Given the description of an element on the screen output the (x, y) to click on. 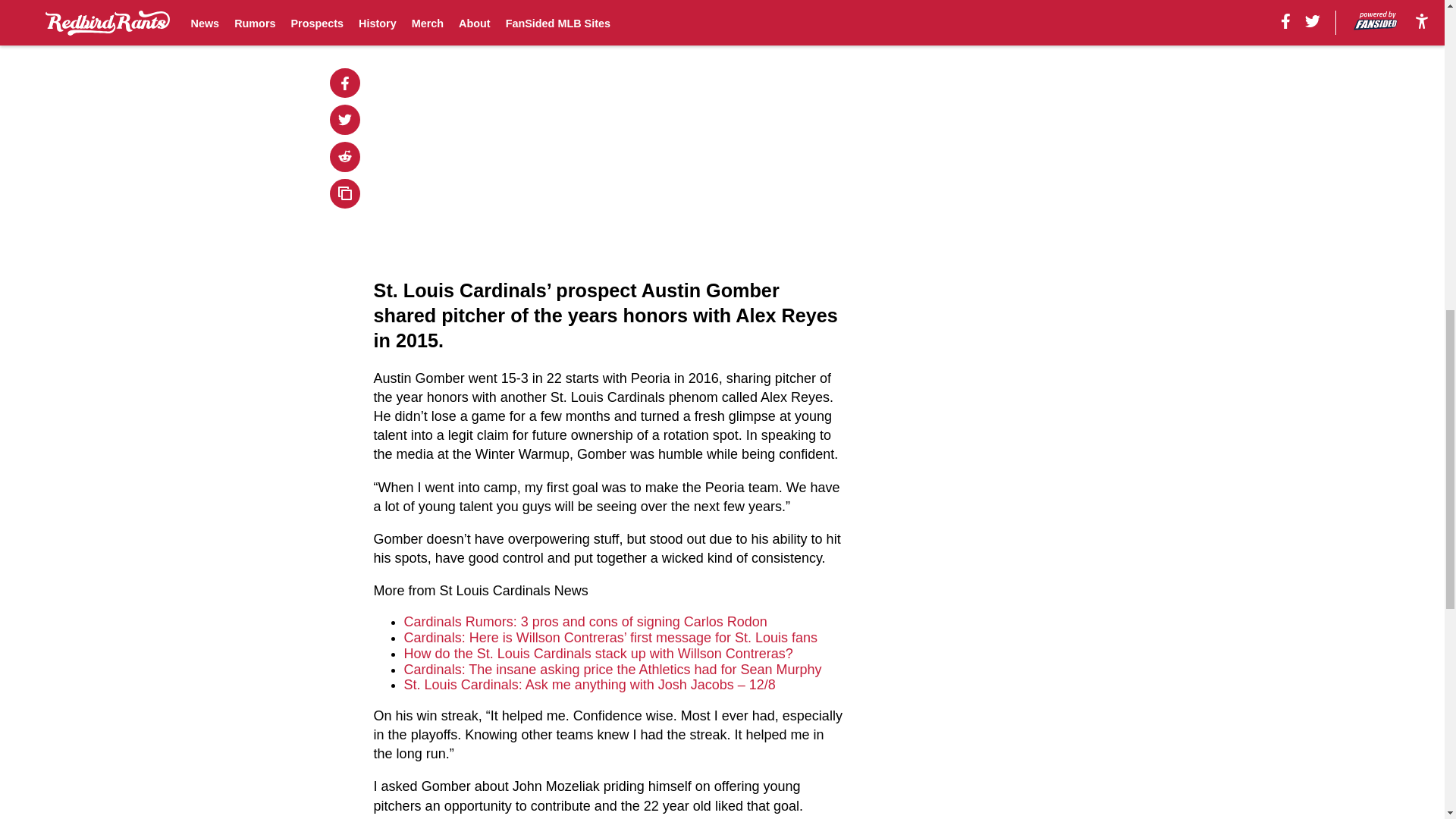
Cardinals Rumors: 3 pros and cons of signing Carlos Rodon (585, 621)
